Given the description of an element on the screen output the (x, y) to click on. 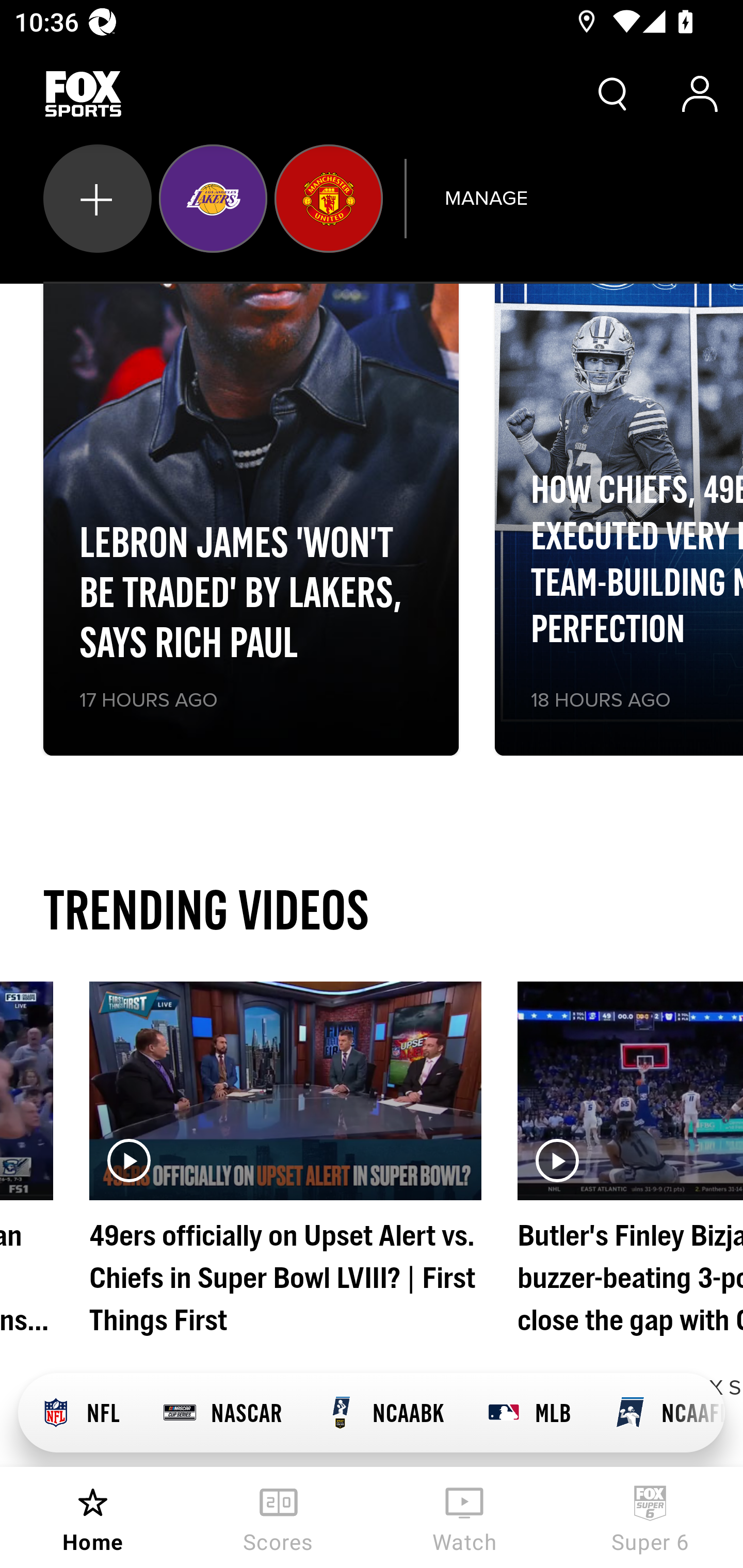
Search (612, 93)
Account (699, 93)
MANAGE (485, 198)
NFL (79, 1412)
NASCAR (222, 1412)
NCAABK (384, 1412)
MLB (528, 1412)
NCAAFB (658, 1412)
Scores (278, 1517)
Watch (464, 1517)
Super 6 (650, 1517)
